Given the description of an element on the screen output the (x, y) to click on. 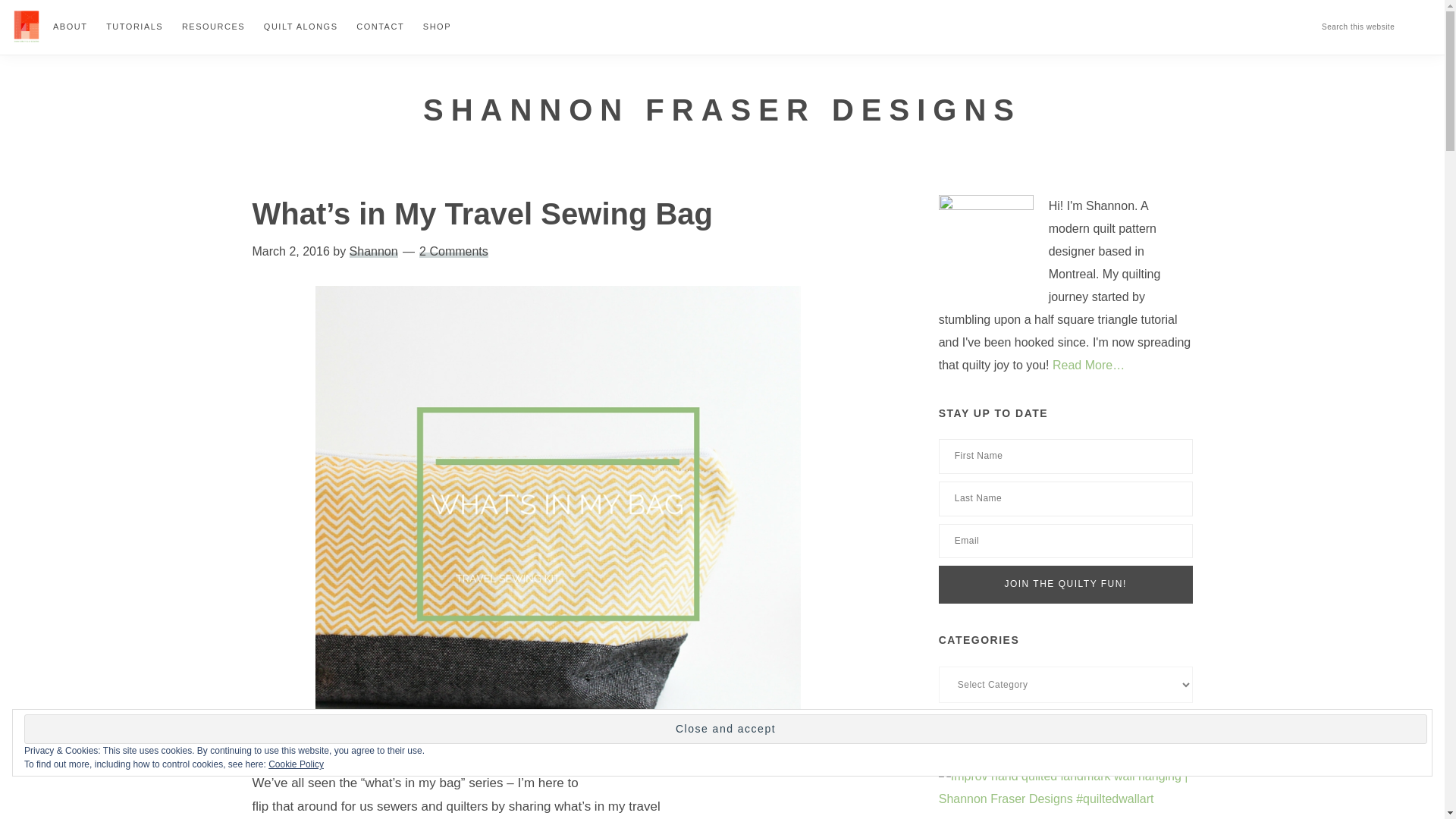
TUTORIALS (134, 26)
Join the quilty fun! (1065, 584)
Close and accept (725, 728)
SHANNON FRASER DESIGNS (722, 109)
Close and accept (725, 728)
CONTACT (380, 26)
Join the quilty fun! (1065, 584)
